Given the description of an element on the screen output the (x, y) to click on. 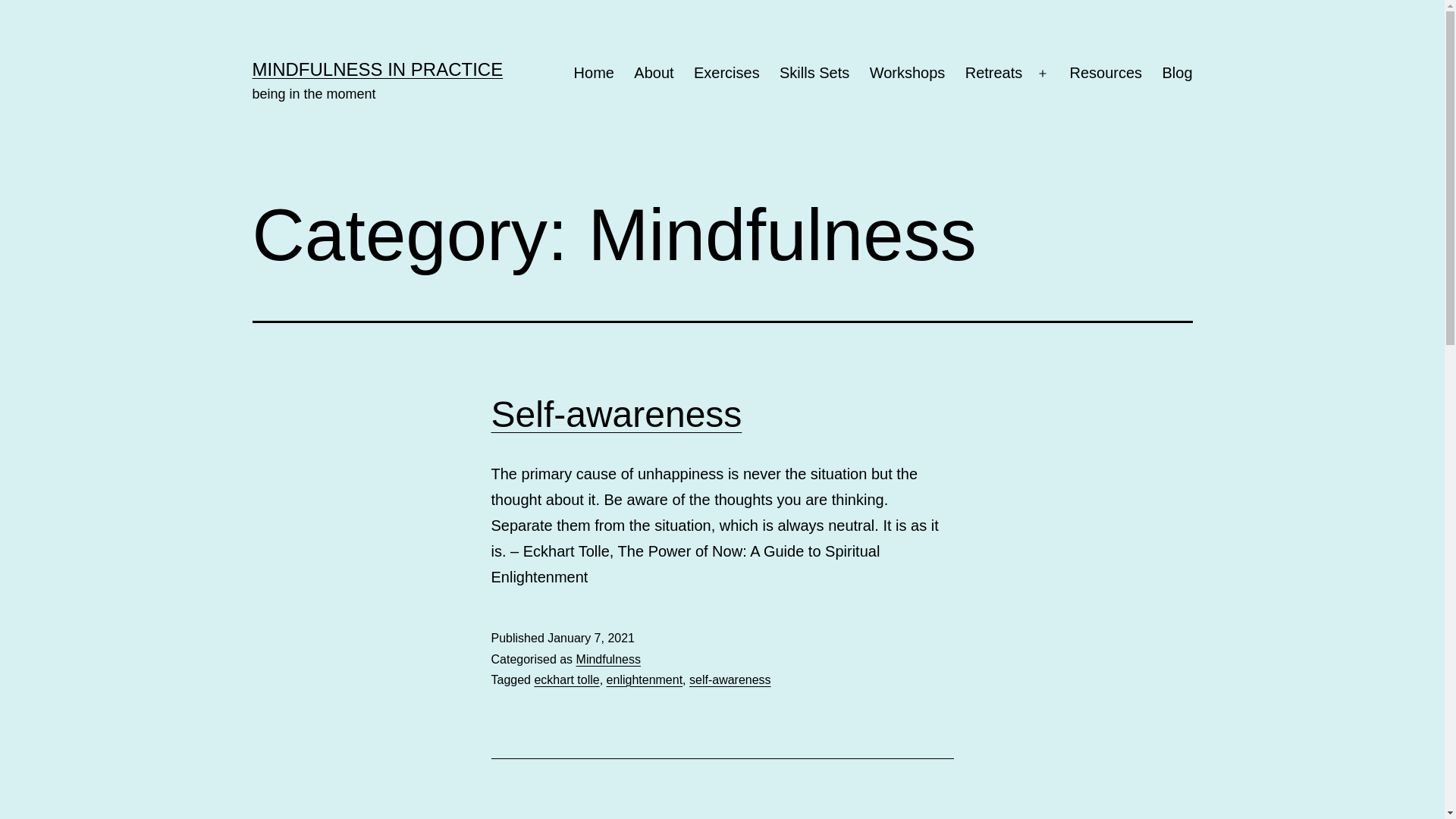
Skills Sets Element type: text (814, 73)
Workshops Element type: text (906, 73)
Resources Element type: text (1105, 73)
enlightenment Element type: text (644, 679)
self-awareness Element type: text (730, 679)
Mindfulness Element type: text (608, 658)
About Element type: text (654, 73)
MINDFULNESS IN PRACTICE Element type: text (376, 69)
Exercises Element type: text (726, 73)
Open menu Element type: text (1042, 73)
Home Element type: text (593, 73)
Self-awareness Element type: text (616, 414)
eckhart tolle Element type: text (566, 679)
Retreats Element type: text (993, 73)
Blog Element type: text (1176, 73)
